Given the description of an element on the screen output the (x, y) to click on. 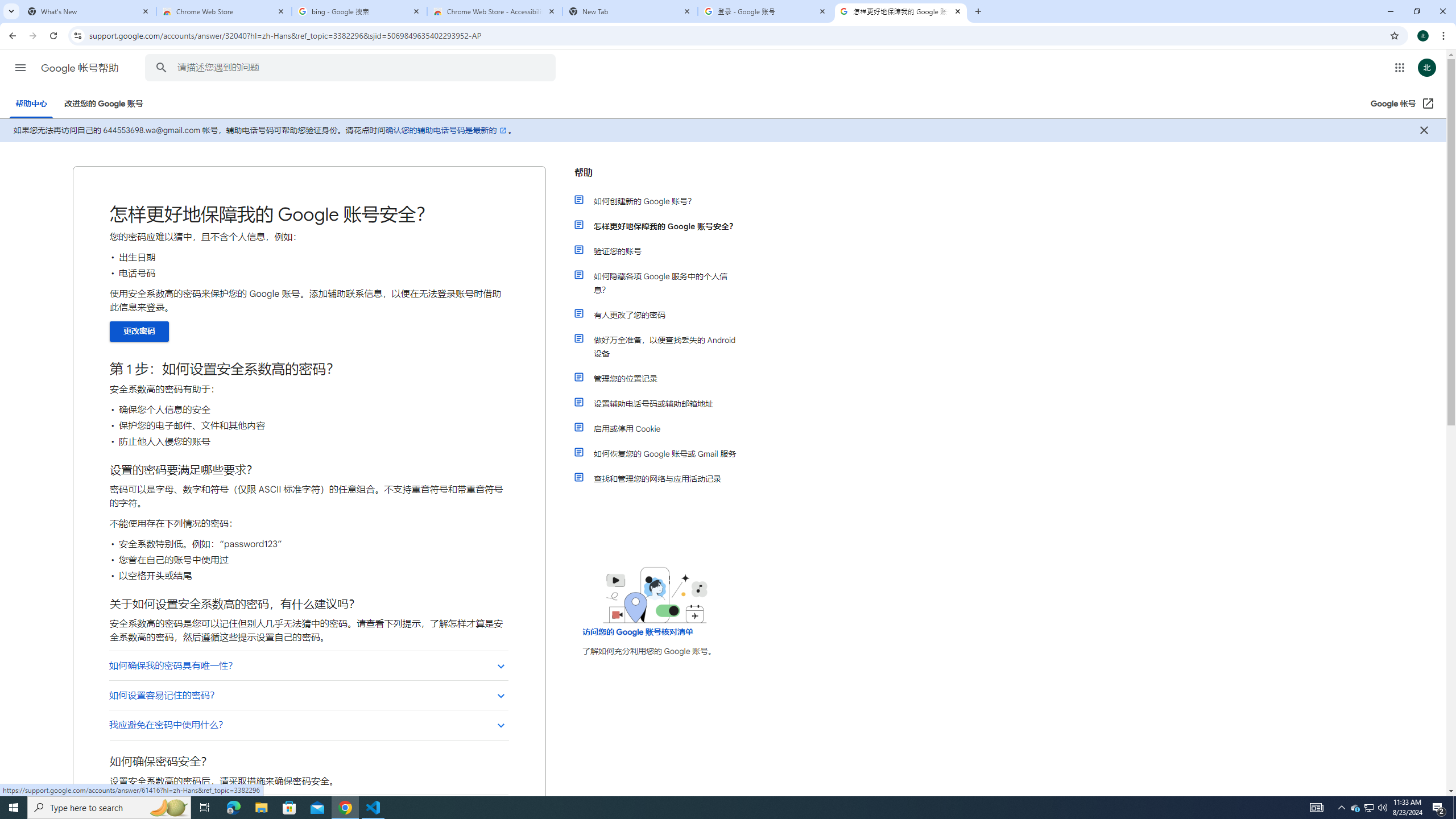
Chrome Web Store (224, 11)
